Given the description of an element on the screen output the (x, y) to click on. 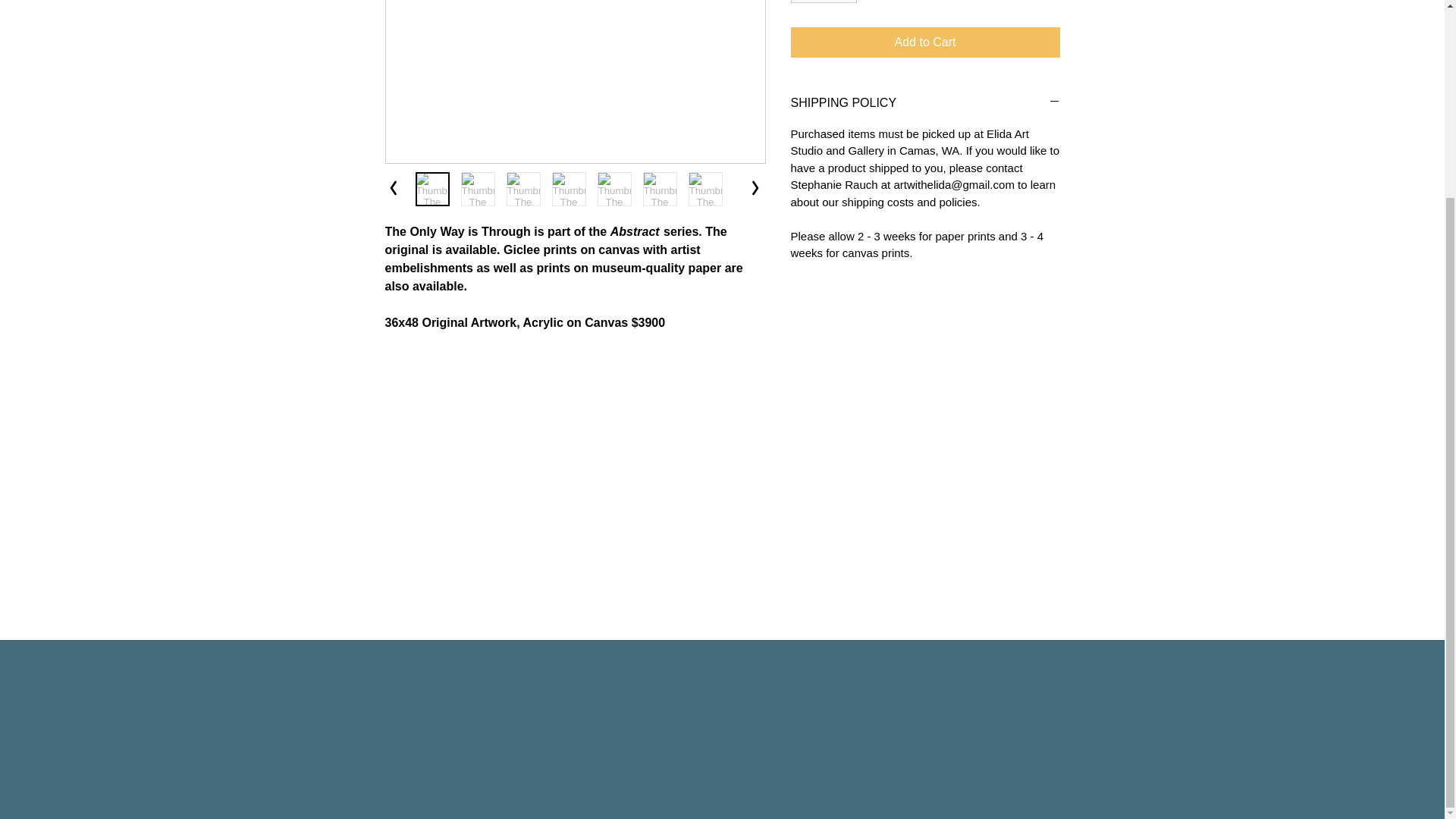
1 (823, 1)
SHIPPING POLICY (924, 103)
Add to Cart (924, 42)
